Given the description of an element on the screen output the (x, y) to click on. 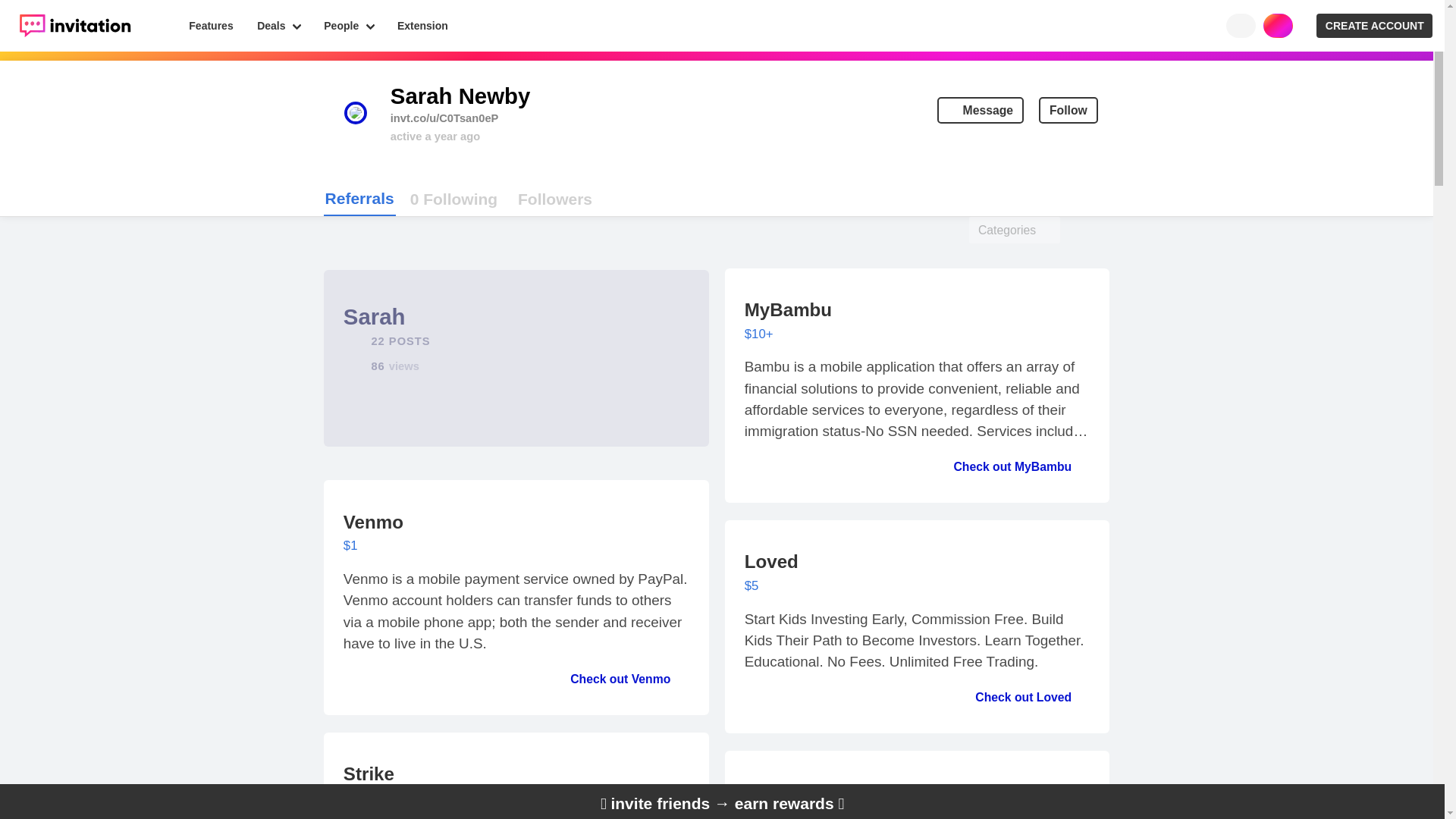
Features (211, 25)
Message (454, 198)
CREATE ACCOUNT (980, 110)
Deals (1374, 25)
People (277, 25)
Extension (349, 25)
Referrals (422, 25)
Follow (359, 199)
